Given the description of an element on the screen output the (x, y) to click on. 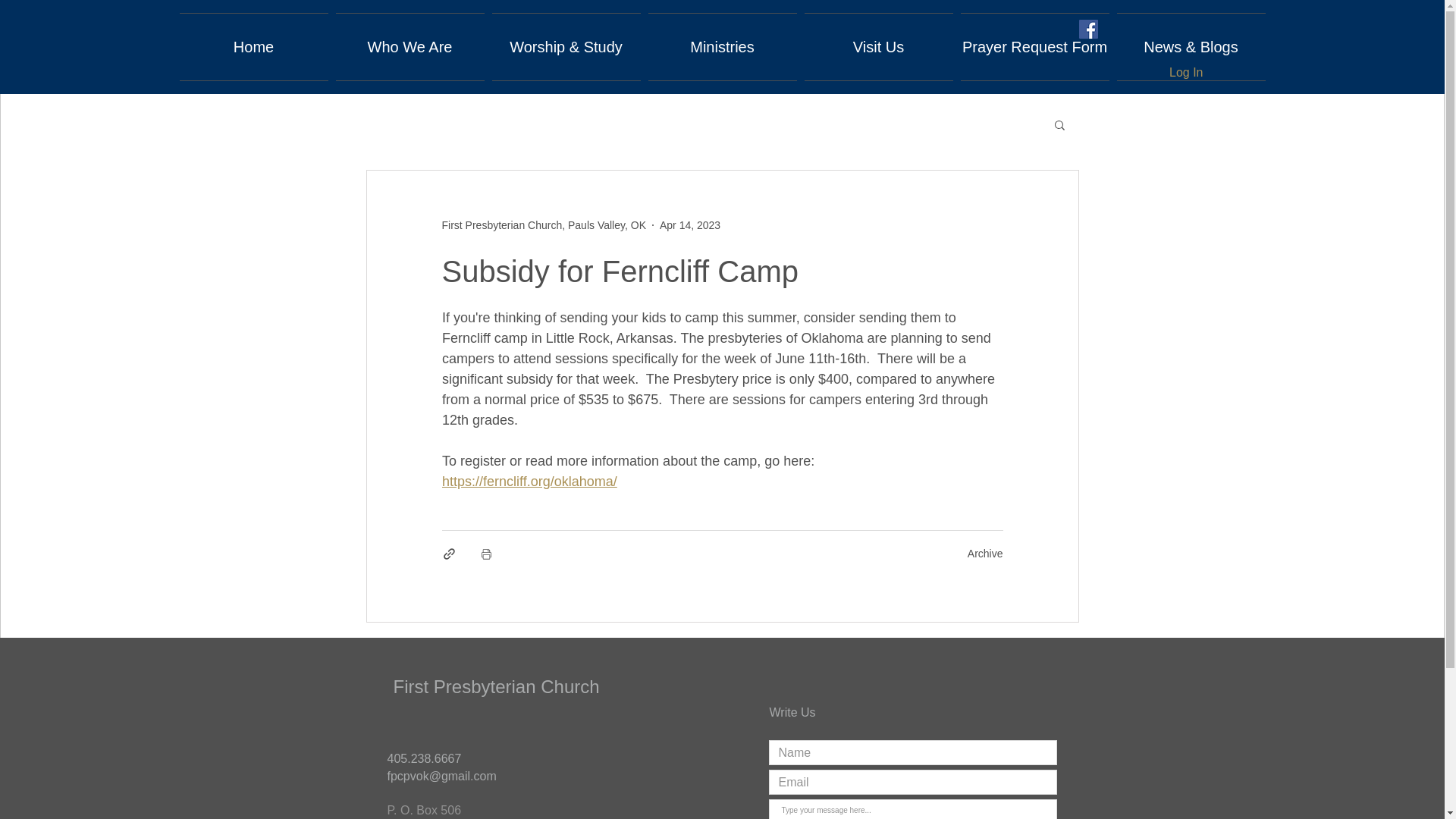
Home (253, 47)
Who We Are (409, 47)
Ministries (722, 47)
Log In (1185, 72)
Apr 14, 2023 (689, 224)
Prayer Request Form (1034, 47)
First Presbyterian Church, Pauls Valley, OK (543, 224)
First Presbyterian Church, Pauls Valley, OK (543, 224)
Archive (985, 553)
Visit Us (878, 47)
